Given the description of an element on the screen output the (x, y) to click on. 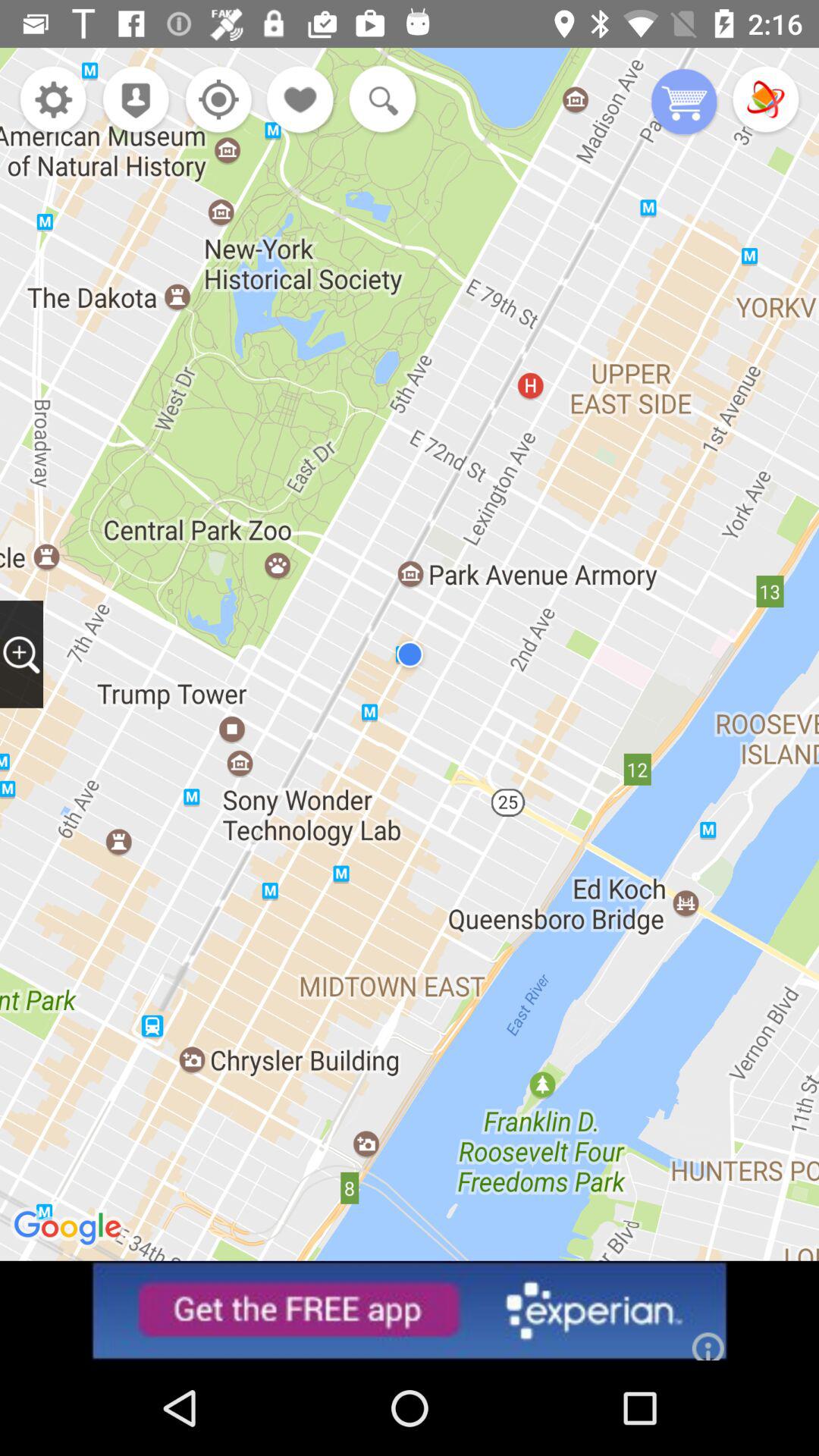
shopping (684, 102)
